Given the description of an element on the screen output the (x, y) to click on. 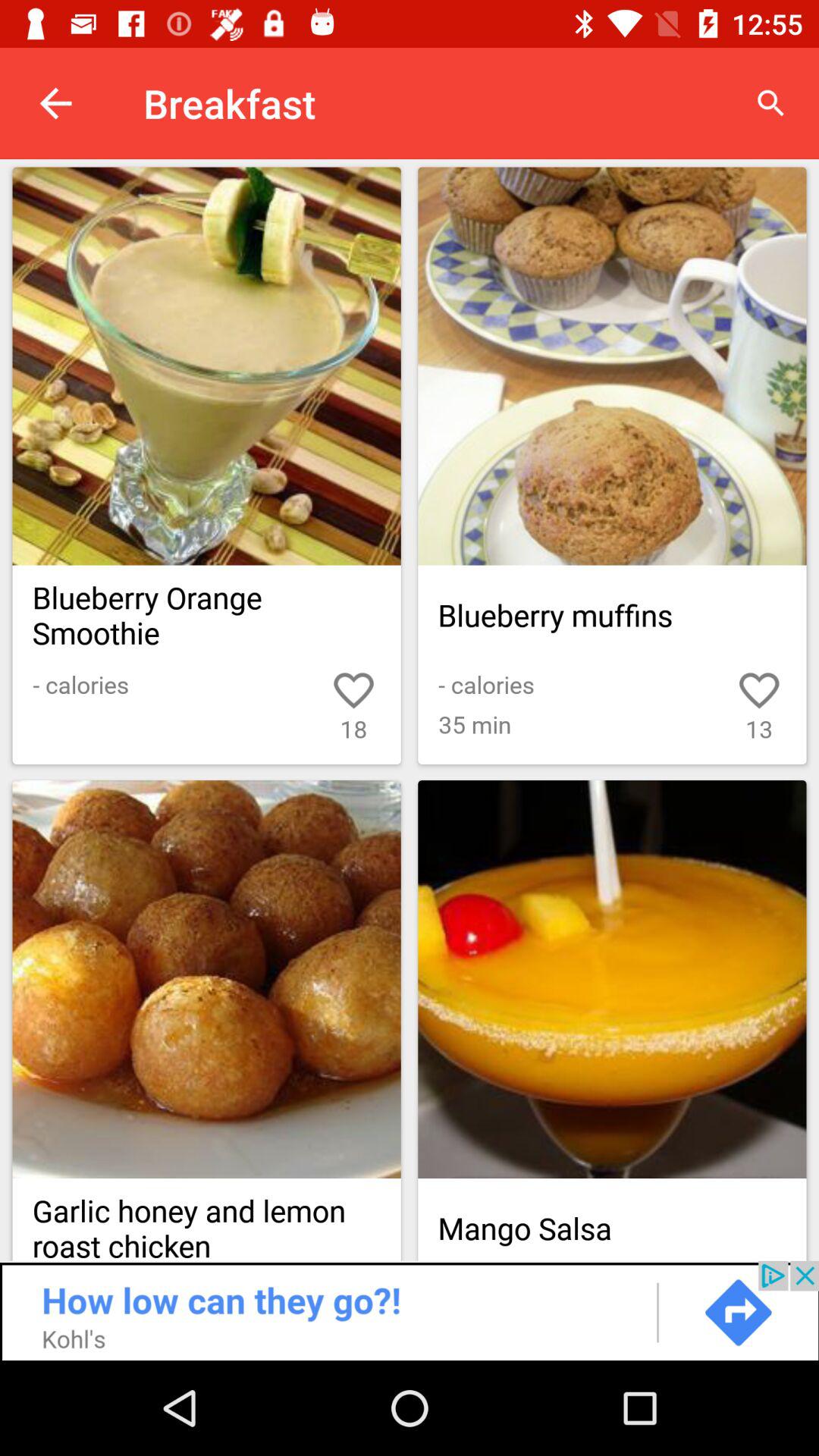
set as favorite (206, 979)
